Given the description of an element on the screen output the (x, y) to click on. 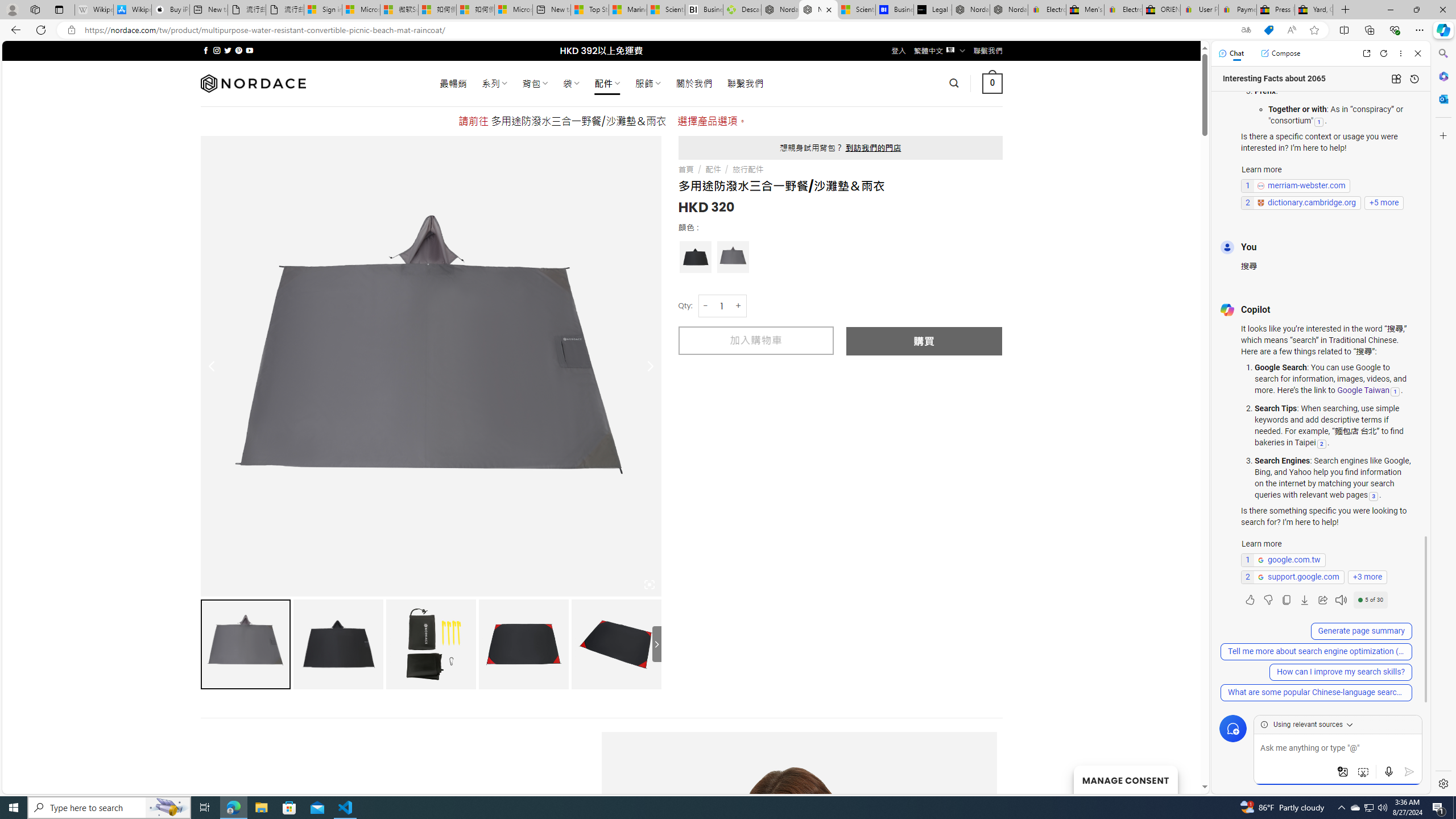
Chat (1231, 52)
Yard, Garden & Outdoor Living (1314, 9)
Microsoft Services Agreement (360, 9)
 0  (992, 83)
Press Room - eBay Inc. (1276, 9)
